Given the description of an element on the screen output the (x, y) to click on. 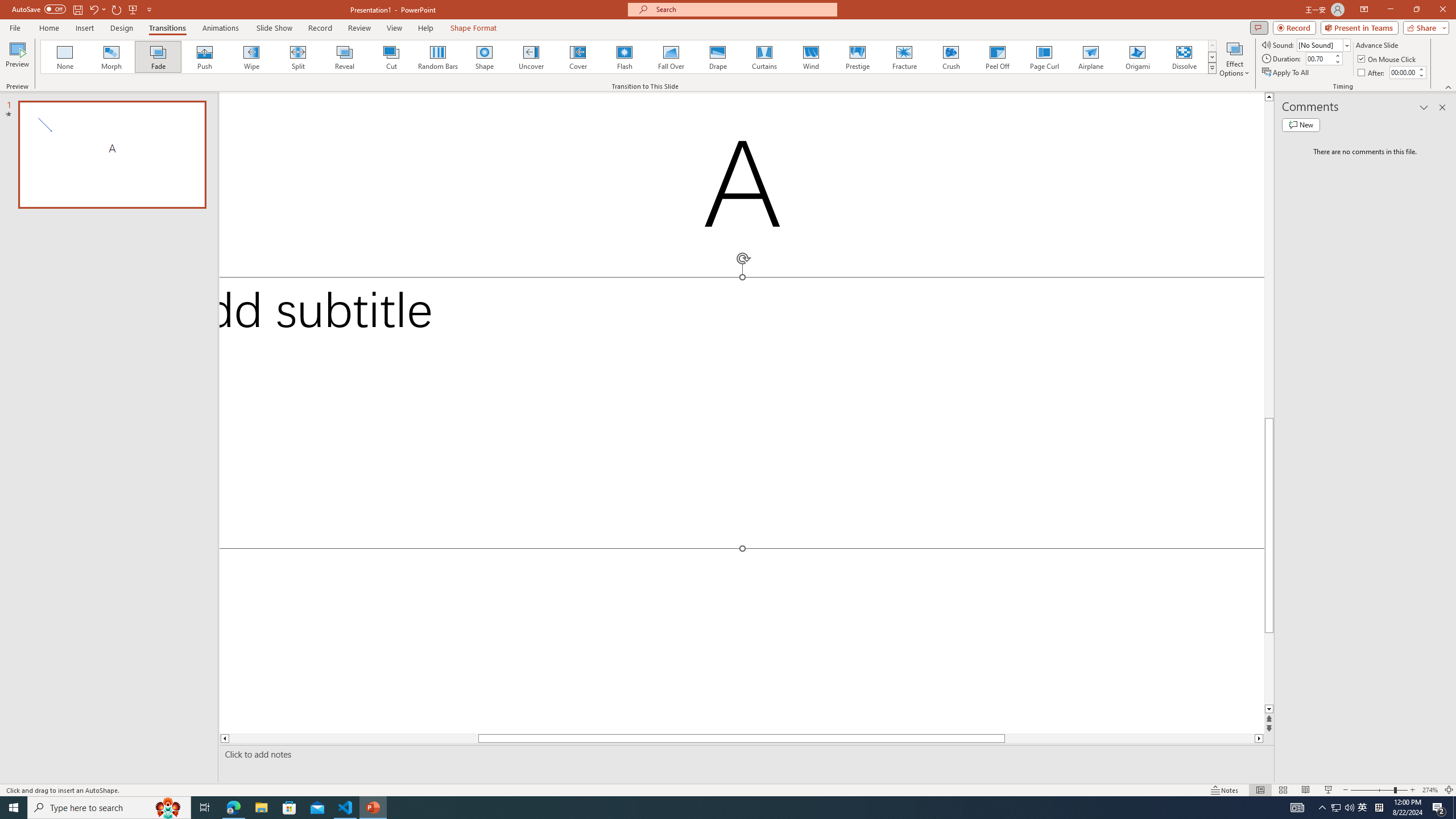
After (1372, 72)
Duration (1319, 58)
Wind (810, 56)
Push (205, 56)
